Given the description of an element on the screen output the (x, y) to click on. 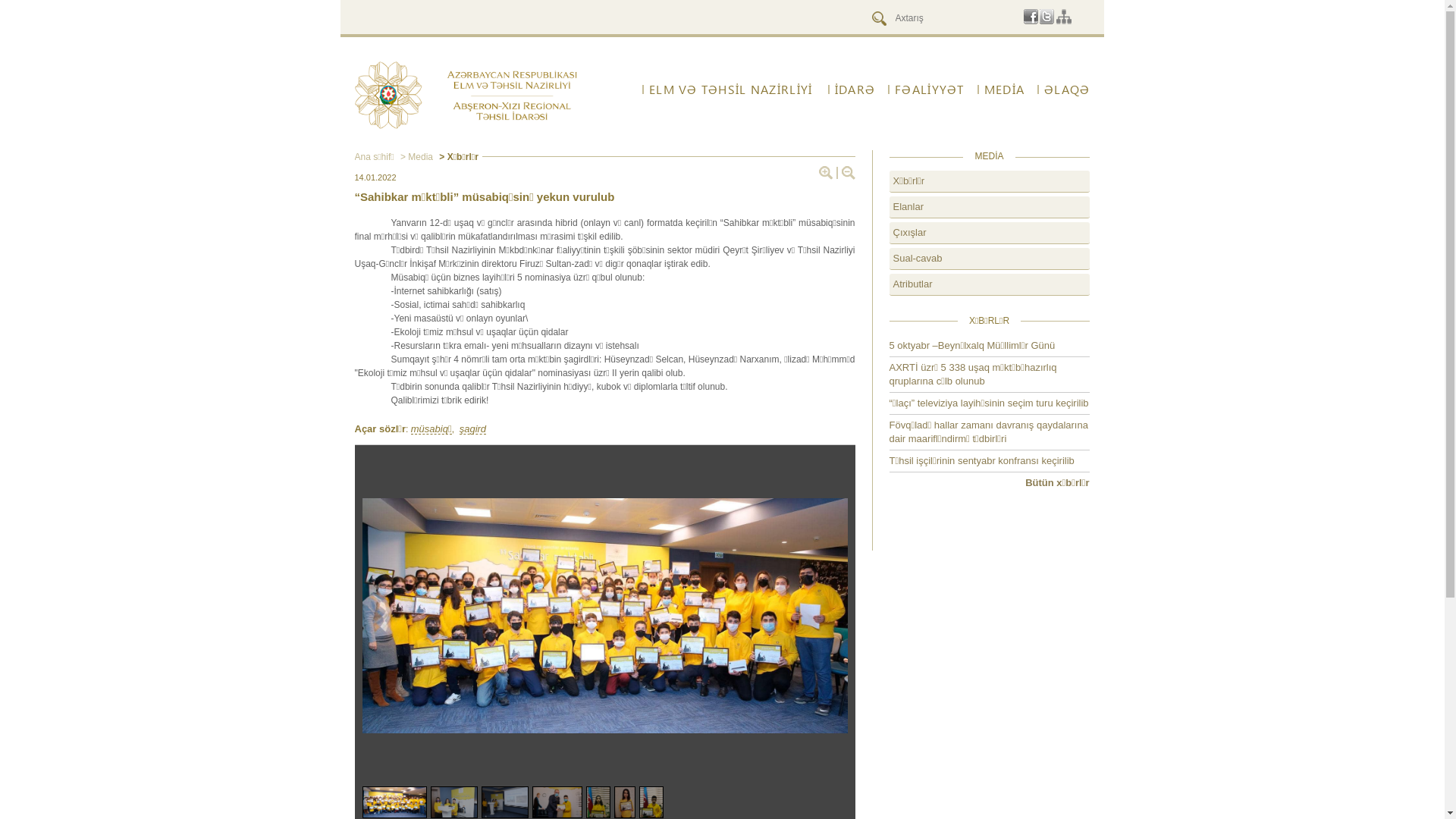
> Media Element type: text (417, 156)
MEDIA Element type: text (1000, 89)
Atributlar Element type: text (988, 284)
Sual-cavab Element type: text (988, 258)
Elanlar Element type: text (988, 207)
